Given the description of an element on the screen output the (x, y) to click on. 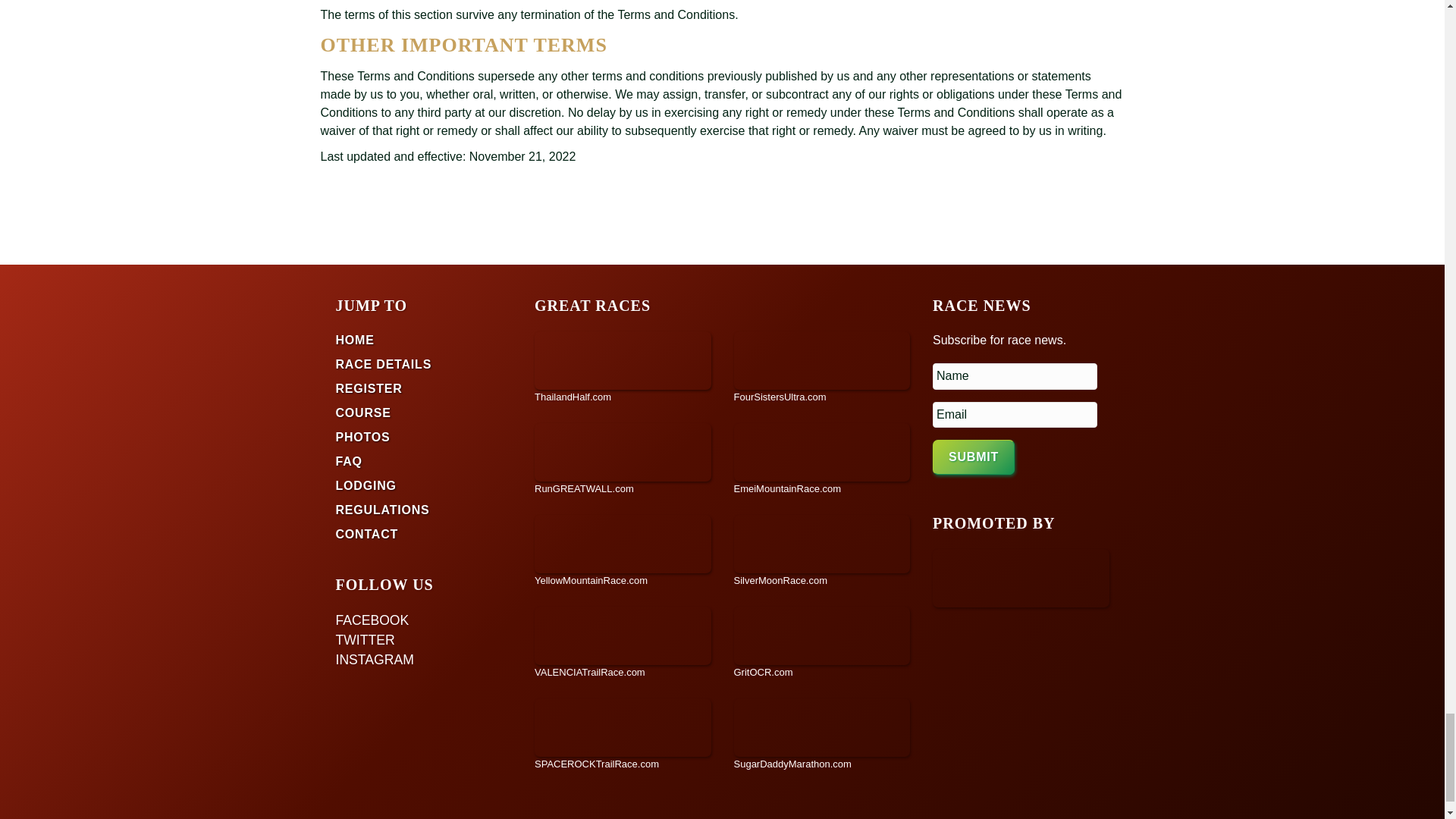
Grit OCR (822, 643)
Four Sisters Ultra (822, 367)
Email (1015, 415)
VALENCIA Trail Race (622, 643)
HOME (354, 339)
REGULATIONS (381, 509)
Emei Mountain Race (822, 459)
COURSE (362, 412)
Name (1015, 376)
REGISTER (367, 388)
